Given the description of an element on the screen output the (x, y) to click on. 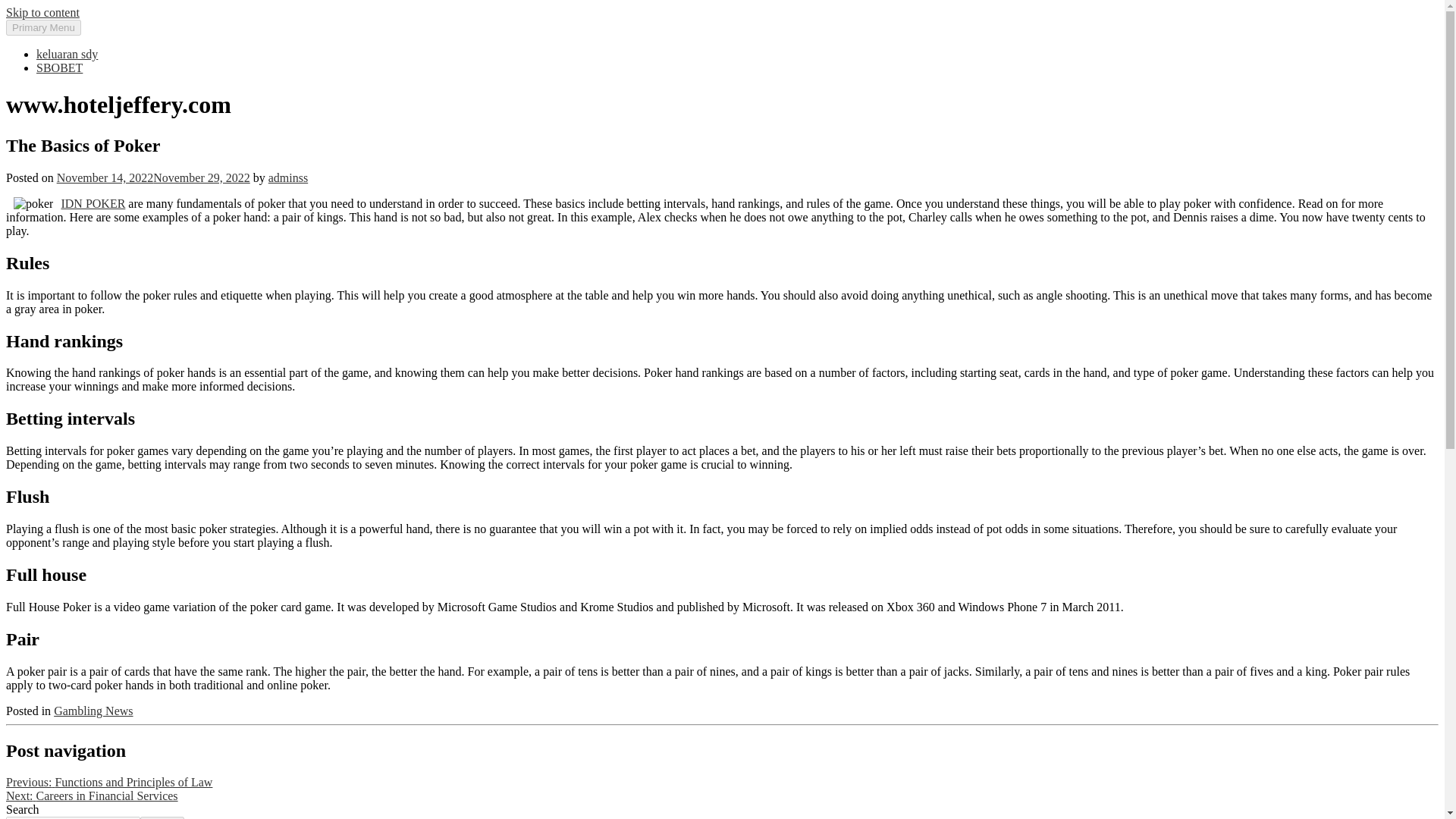
November 14, 2022November 29, 2022 (153, 177)
Primary Menu (43, 27)
Skip to content (42, 11)
adminss (287, 177)
Gambling News (92, 710)
Previous: Functions and Principles of Law (108, 781)
keluaran sdy (66, 53)
SBOBET (59, 67)
Next: Careers in Financial Services (91, 795)
IDN POKER (93, 203)
